Given the description of an element on the screen output the (x, y) to click on. 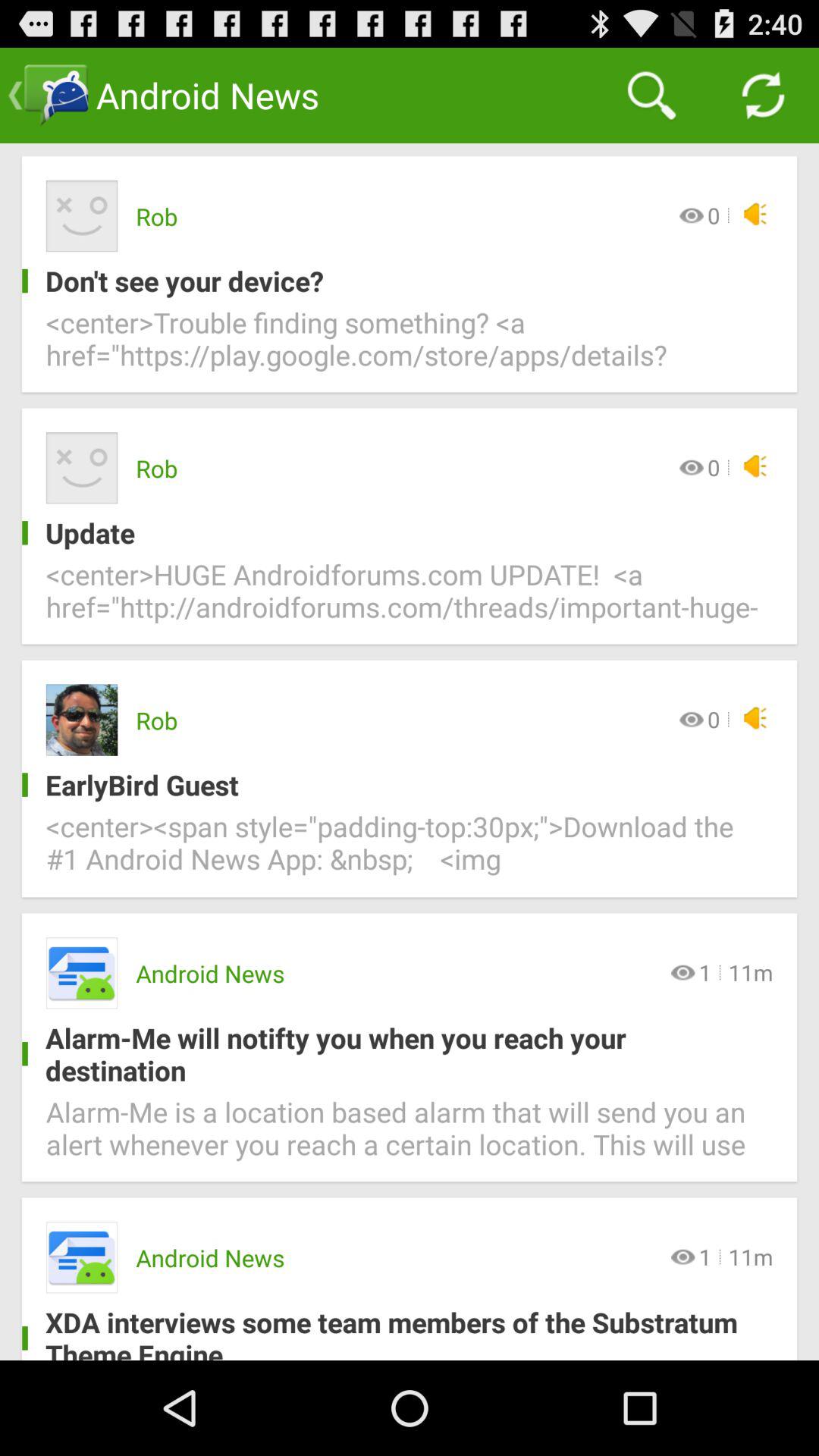
press don t see item (397, 280)
